Given the description of an element on the screen output the (x, y) to click on. 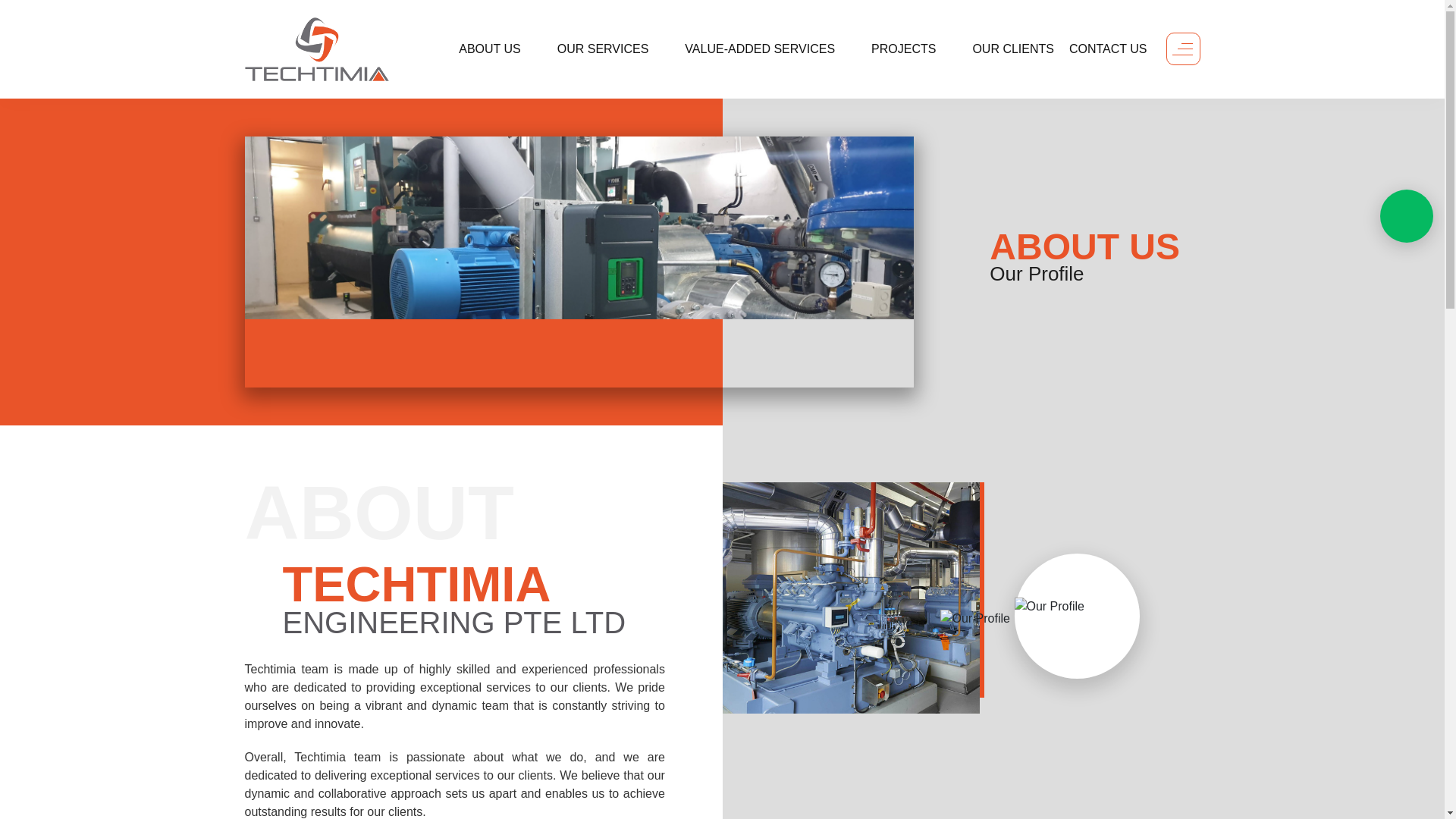
OUR SERVICES (613, 49)
PROJECTS (913, 49)
CONTACT US (1107, 49)
ABOUT US (499, 49)
VALUE-ADDED SERVICES (770, 49)
OUR CLIENTS (1013, 49)
